Given the description of an element on the screen output the (x, y) to click on. 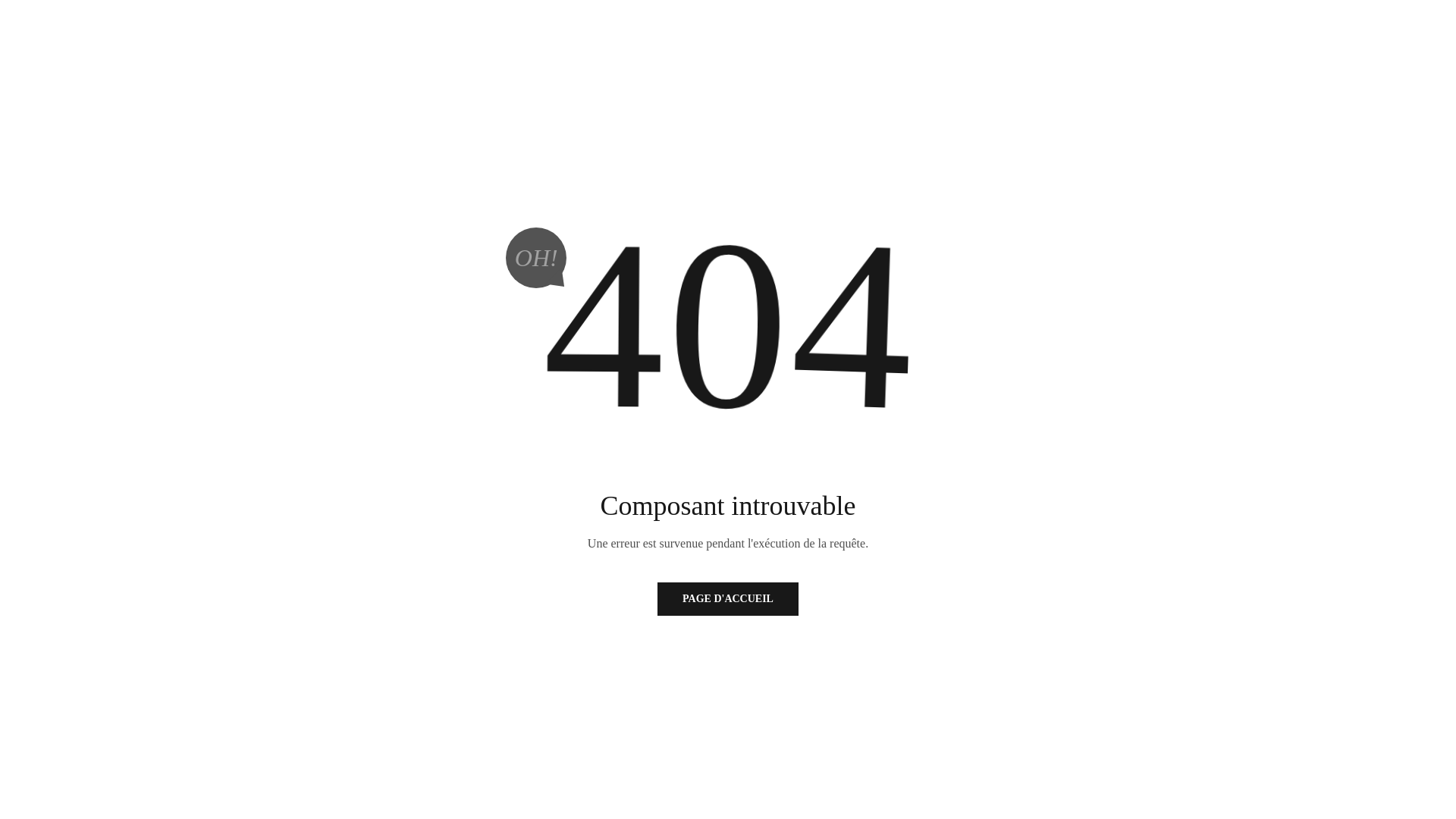
PAGE D'ACCUEIL Element type: text (727, 599)
